Given the description of an element on the screen output the (x, y) to click on. 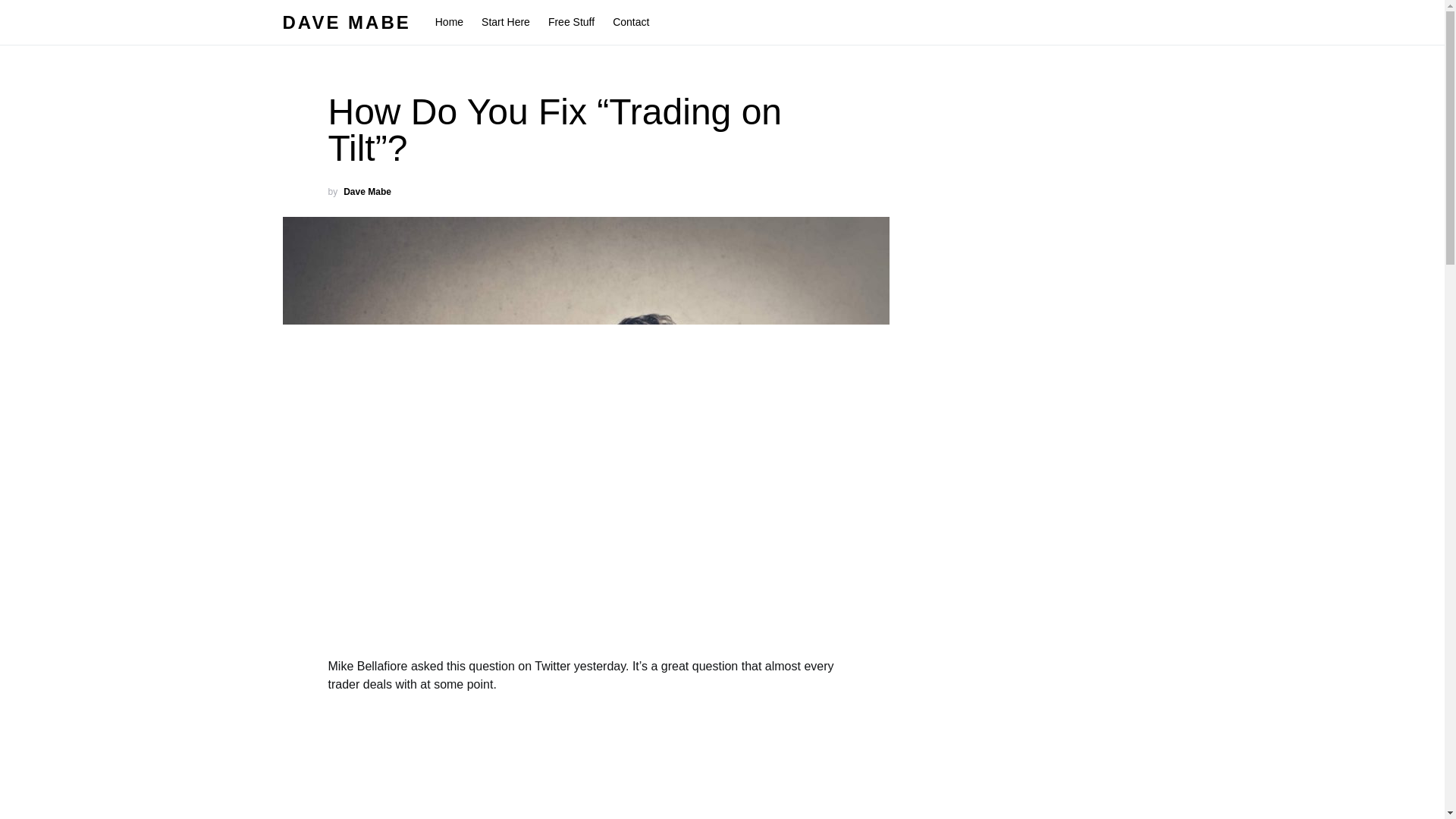
Free Stuff (571, 22)
Contact (626, 22)
Start Here (504, 22)
View all posts by Dave Mabe (367, 192)
Dave Mabe (367, 192)
DAVE MABE (346, 22)
